Given the description of an element on the screen output the (x, y) to click on. 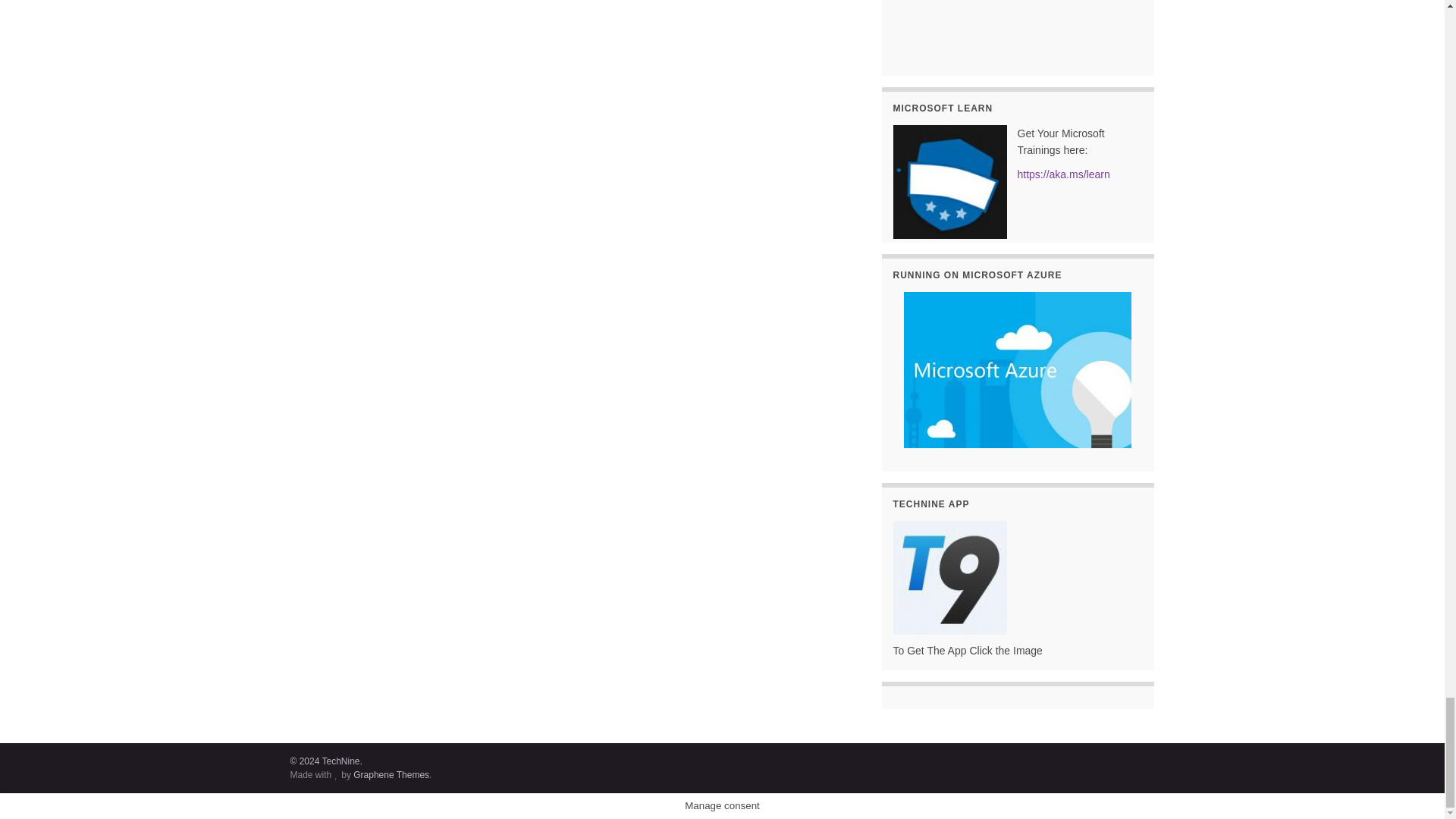
Graphene Themes (391, 774)
